Given the description of an element on the screen output the (x, y) to click on. 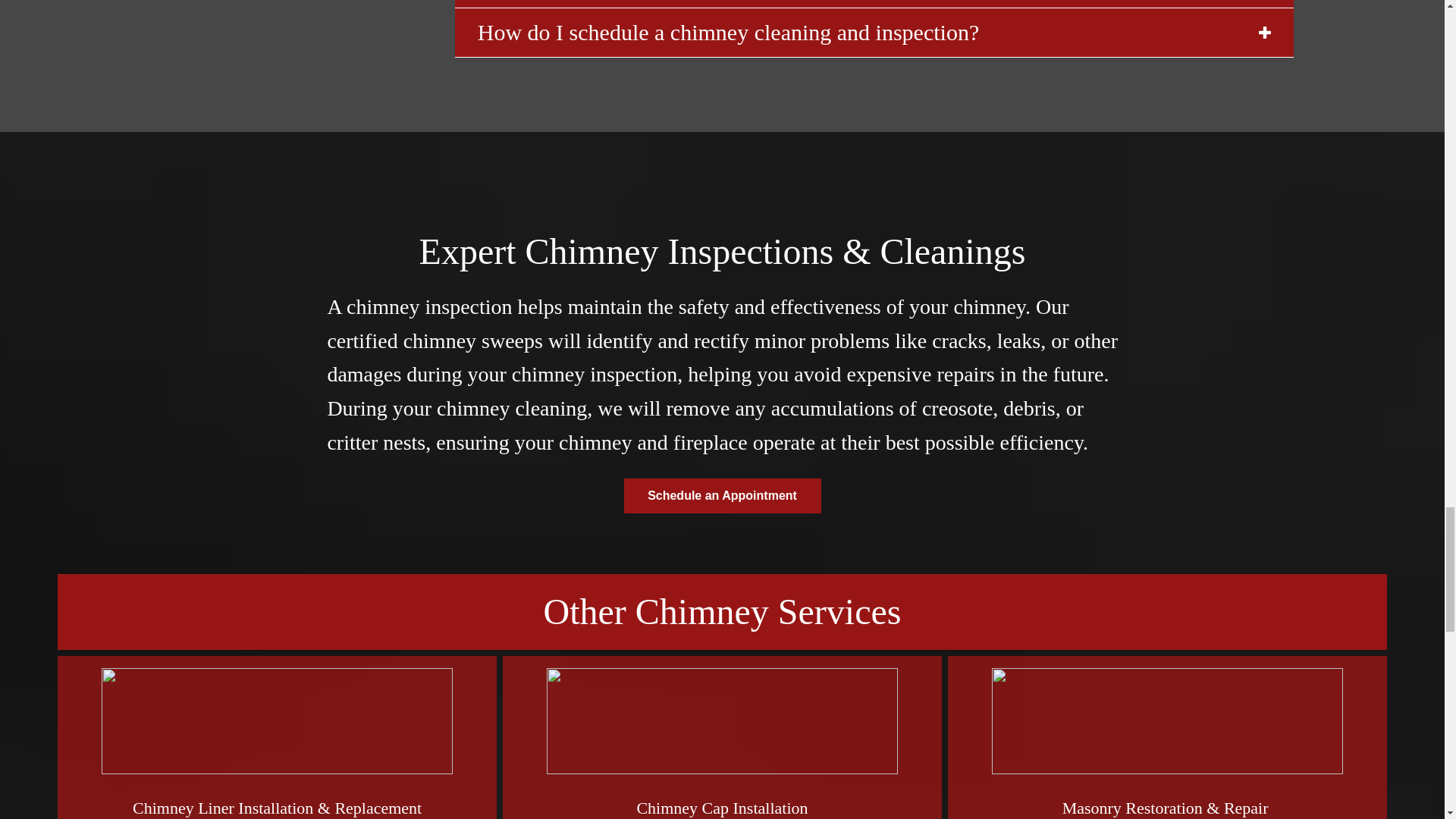
Schedule an Appointment (722, 495)
How do I schedule a chimney cleaning and inspection? (874, 32)
